Given the description of an element on the screen output the (x, y) to click on. 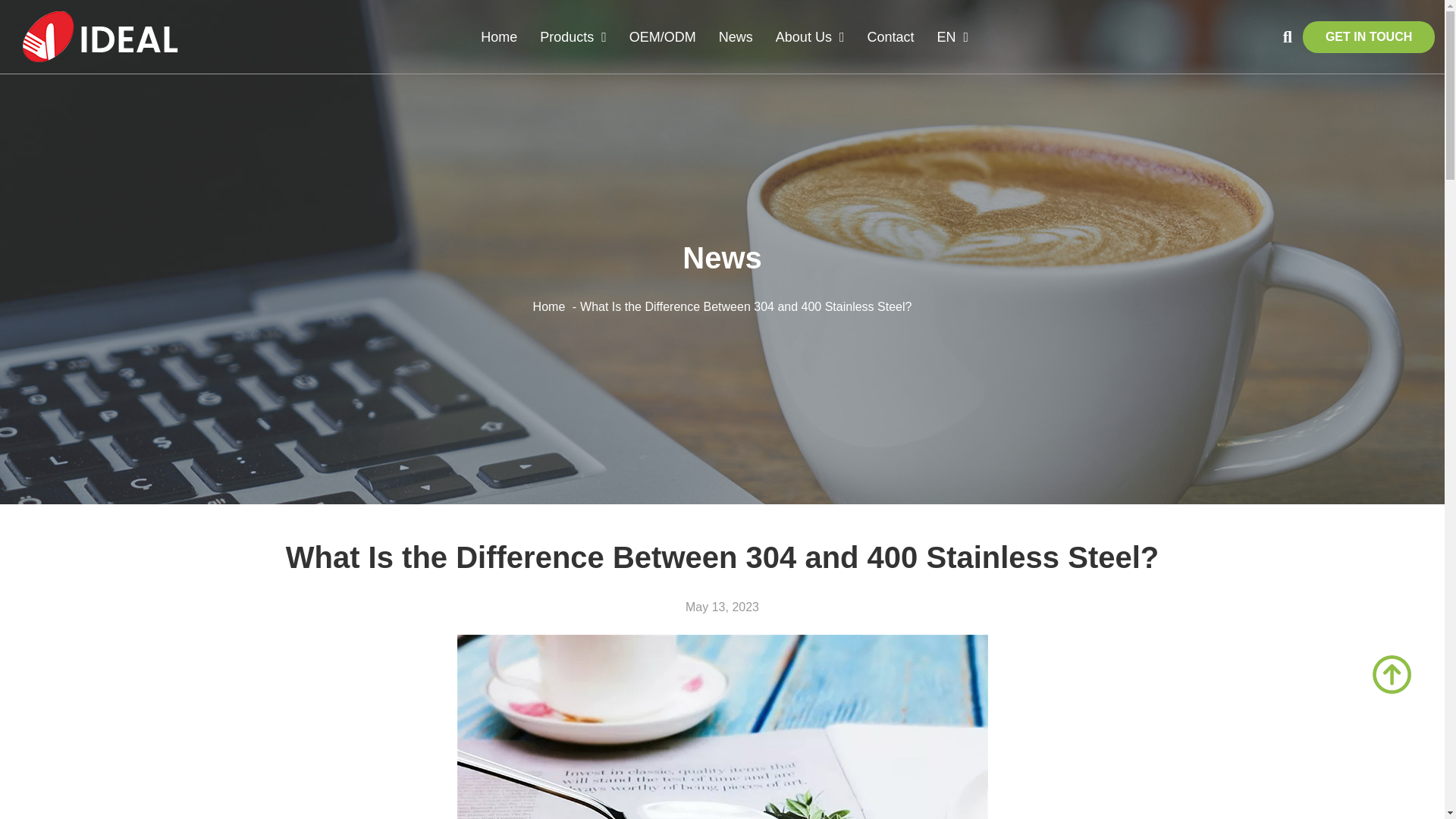
EN (952, 36)
News (735, 36)
Contact (890, 36)
Products (572, 36)
Language (952, 36)
Home (498, 36)
logo (100, 36)
About Us (810, 36)
